Given the description of an element on the screen output the (x, y) to click on. 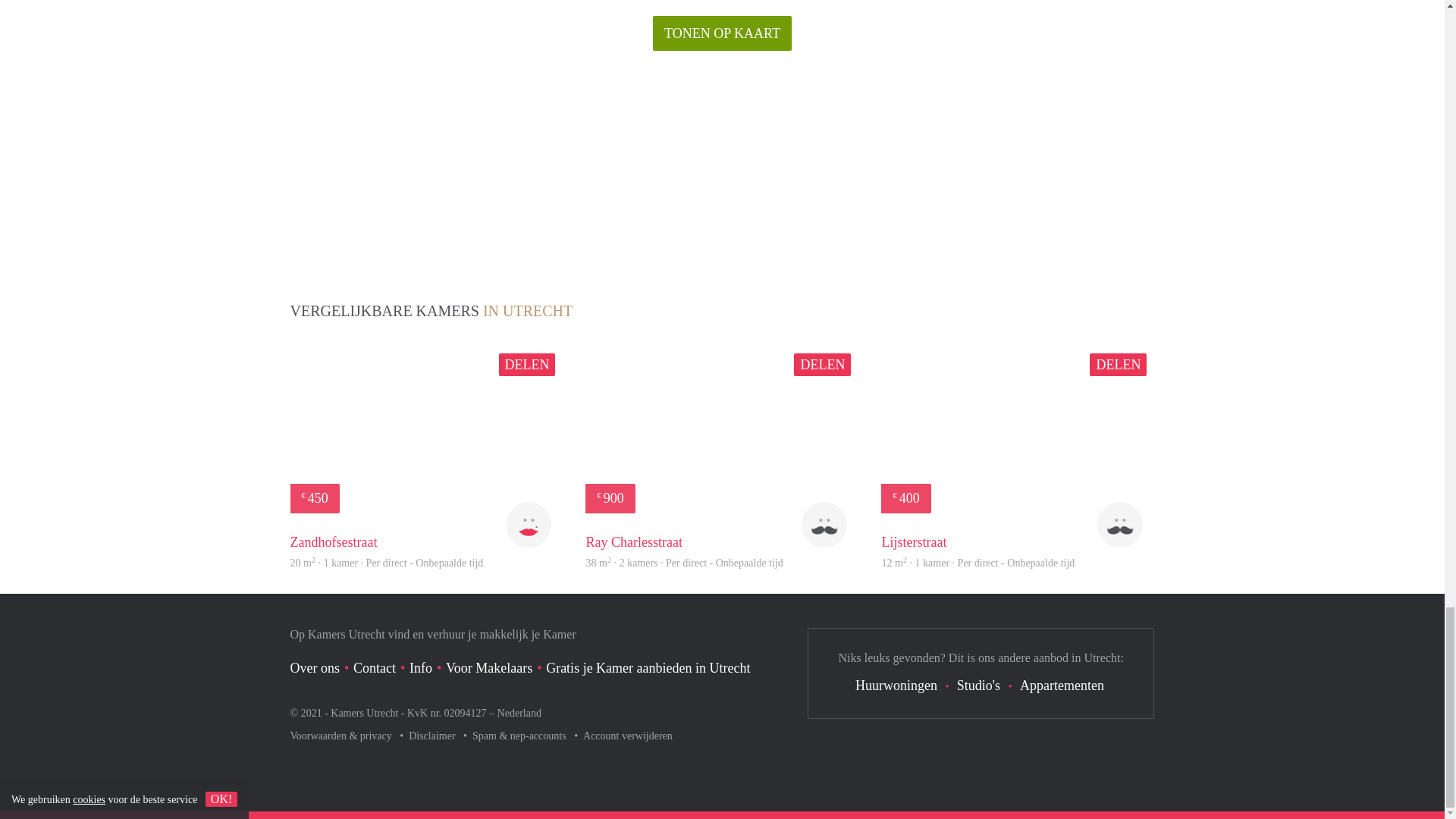
TONEN OP KAART (722, 32)
DELEN (527, 363)
